Given the description of an element on the screen output the (x, y) to click on. 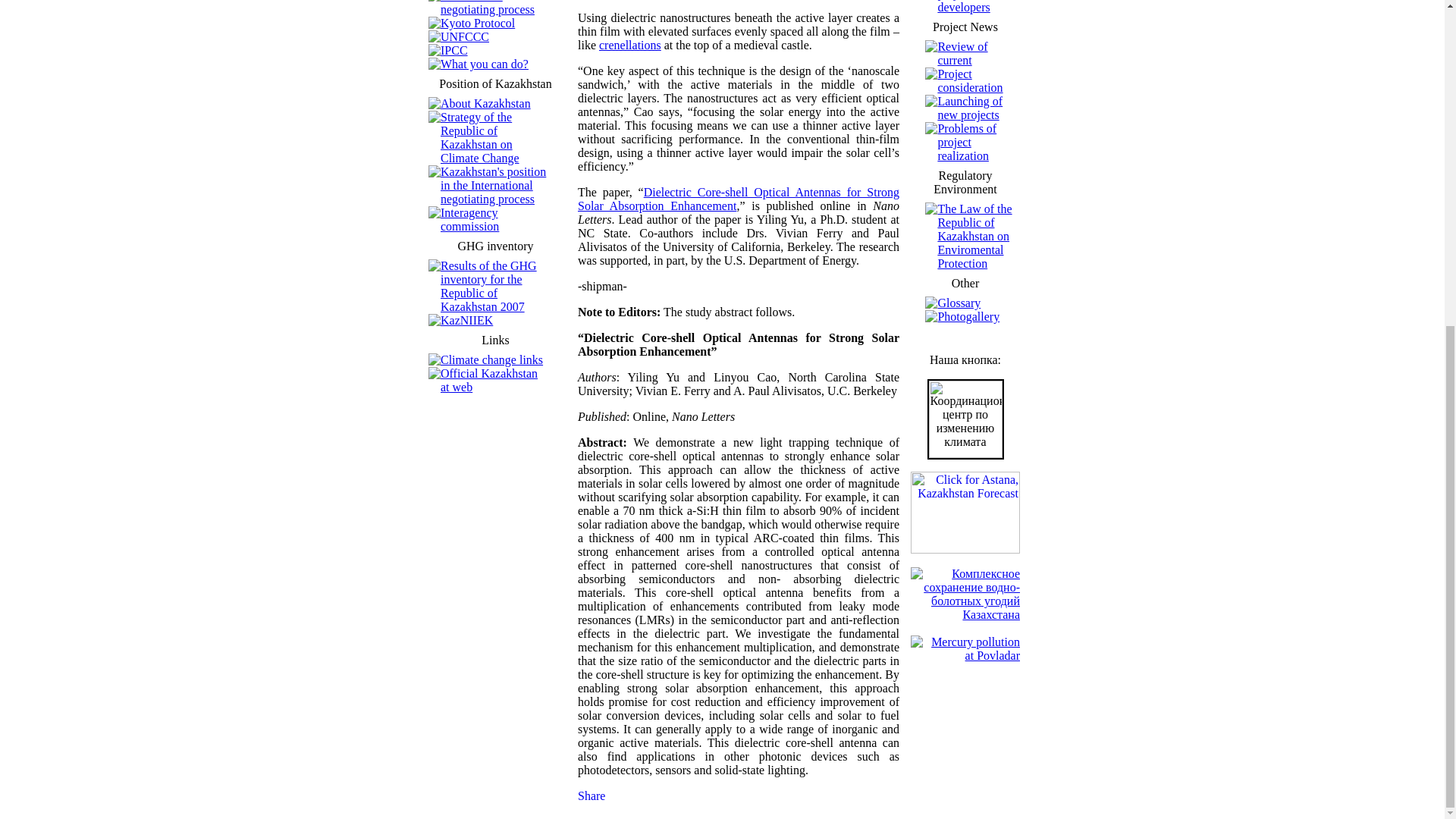
What you can do? (484, 63)
Launching of new projects (970, 108)
Problems of project realization (966, 142)
Official Kazakhstan at web (489, 379)
Strategy of the Republic of Kazakhstan on Climate Change (480, 137)
IPCC (454, 50)
UNFCCC (465, 36)
crenellations (629, 44)
Review of current (962, 53)
